Given the description of an element on the screen output the (x, y) to click on. 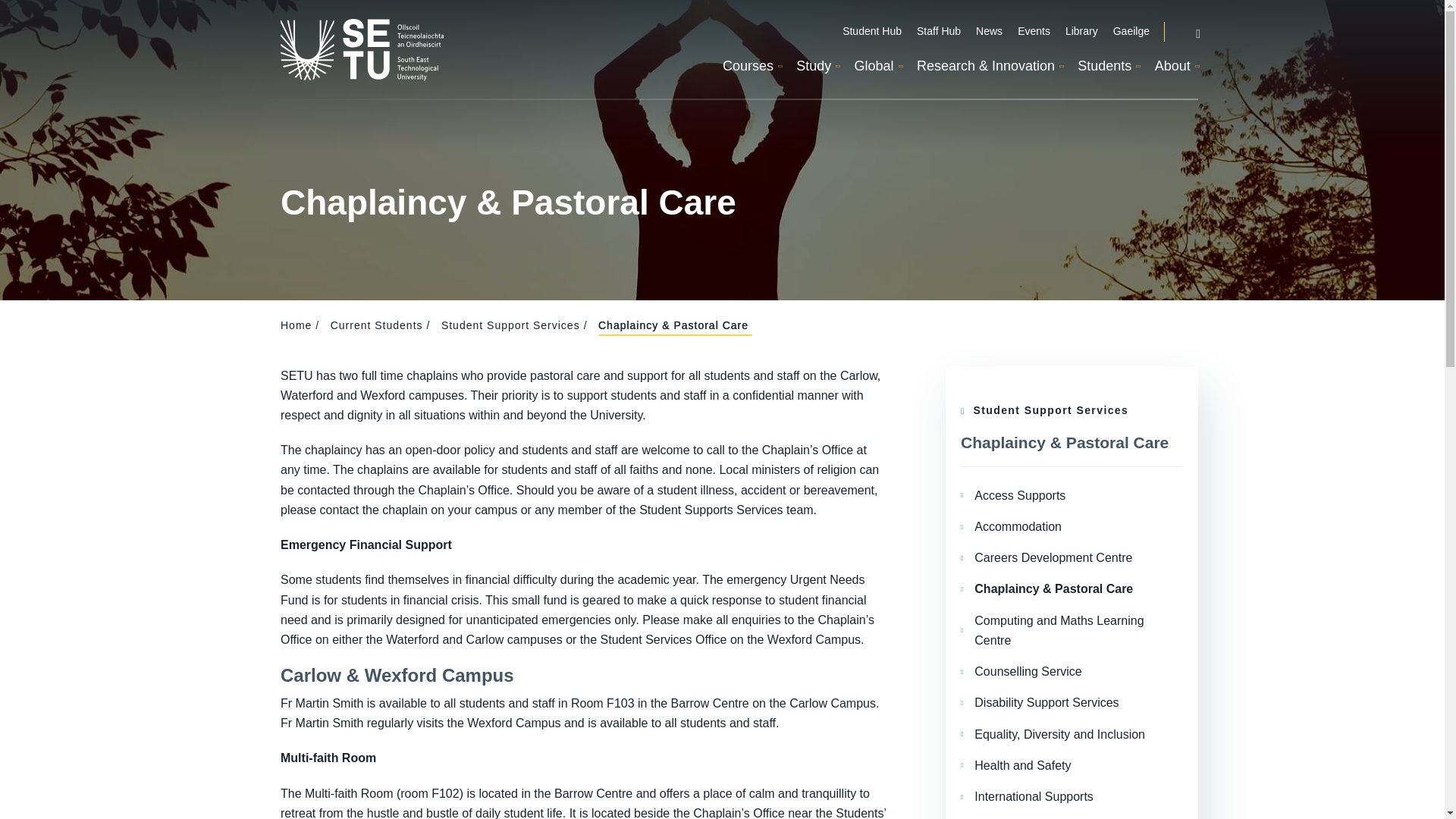
Events (1033, 31)
News (989, 31)
Courses (751, 66)
Staff Hub (938, 31)
Gaeilge (1131, 31)
Student Hub (872, 31)
Library (1081, 31)
